Given the description of an element on the screen output the (x, y) to click on. 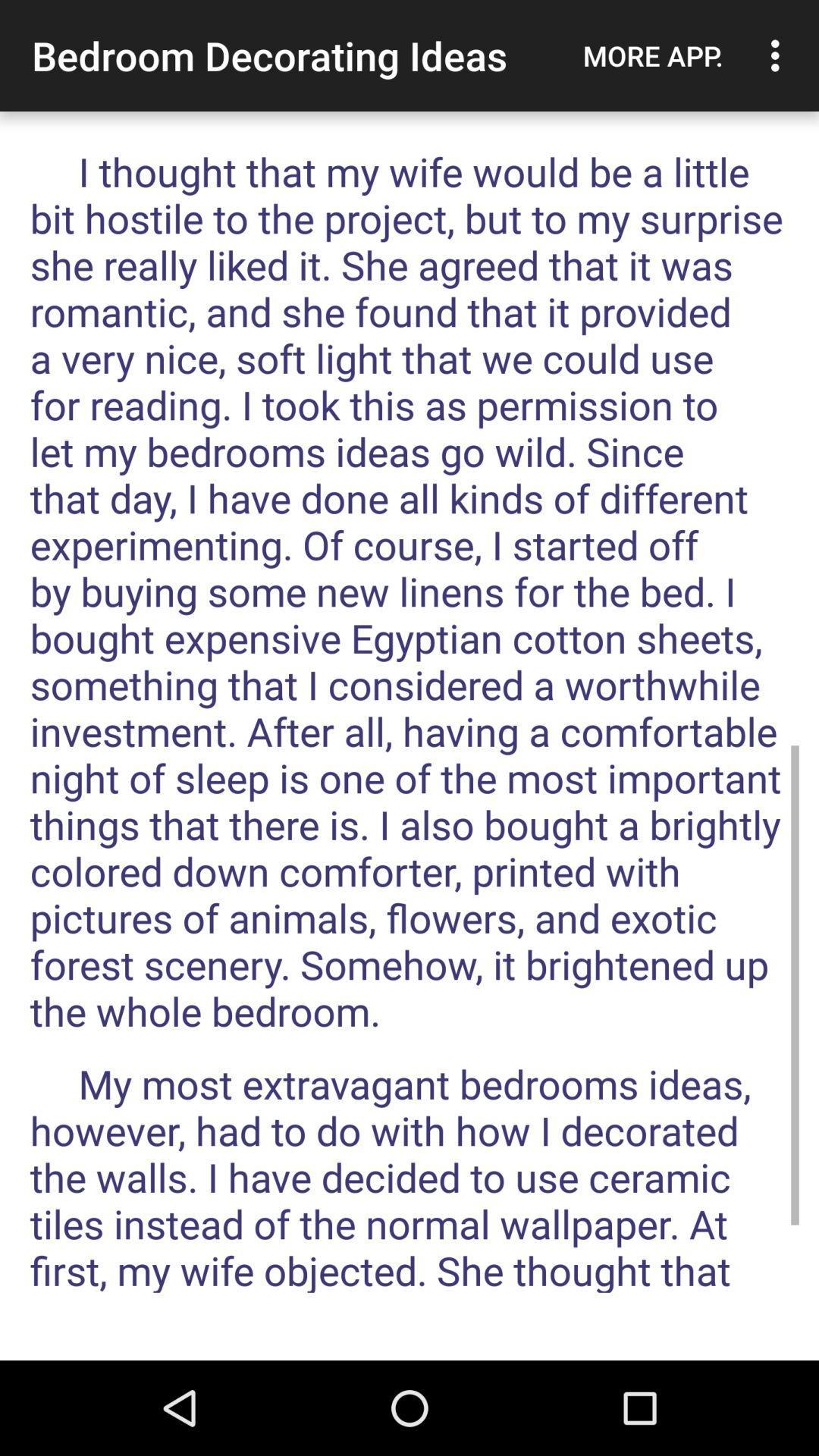
select the item to the right of the bedroom decorating ideas item (653, 55)
